Given the description of an element on the screen output the (x, y) to click on. 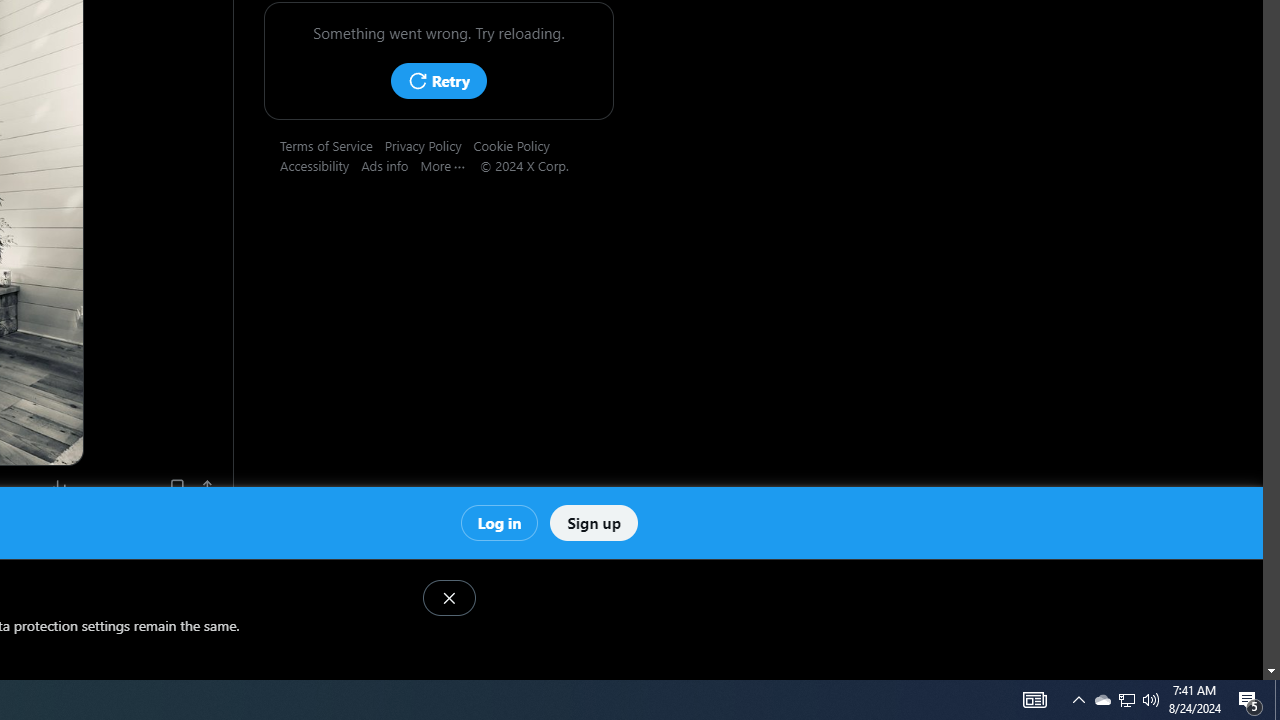
Accessibility (321, 165)
Retry (438, 80)
Cookie Policy (517, 145)
More (450, 165)
Share post (207, 487)
Log in (498, 522)
Ads info (390, 165)
Sign up (593, 522)
View post analytics (59, 487)
Bookmark (176, 487)
